Given the description of an element on the screen output the (x, y) to click on. 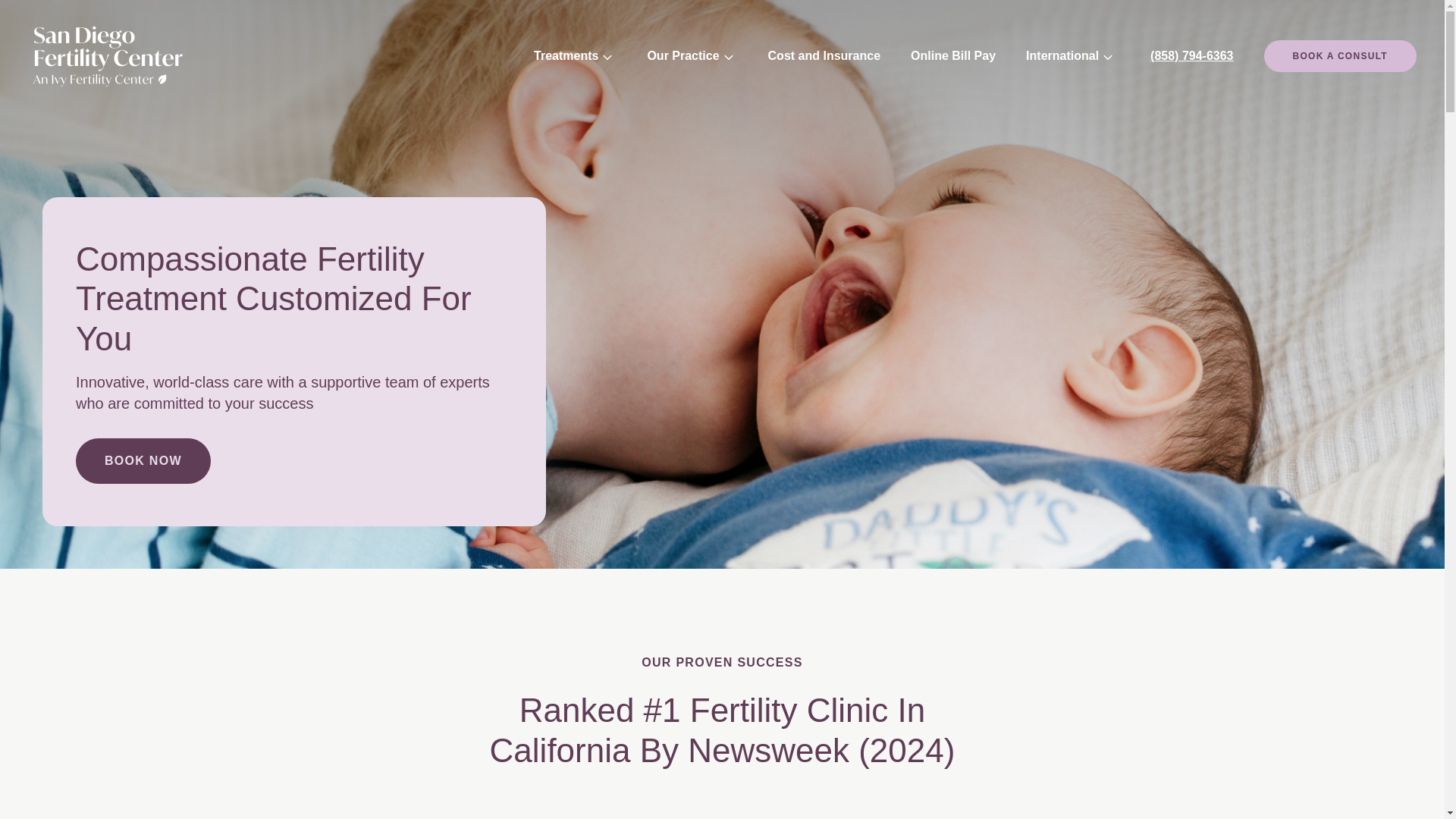
Online Bill Pay (953, 55)
Our Practice (682, 55)
Treatments (566, 55)
BOOK A CONSULT (1339, 56)
International (1062, 55)
Cost and Insurance (824, 55)
BOOK NOW (143, 461)
